Given the description of an element on the screen output the (x, y) to click on. 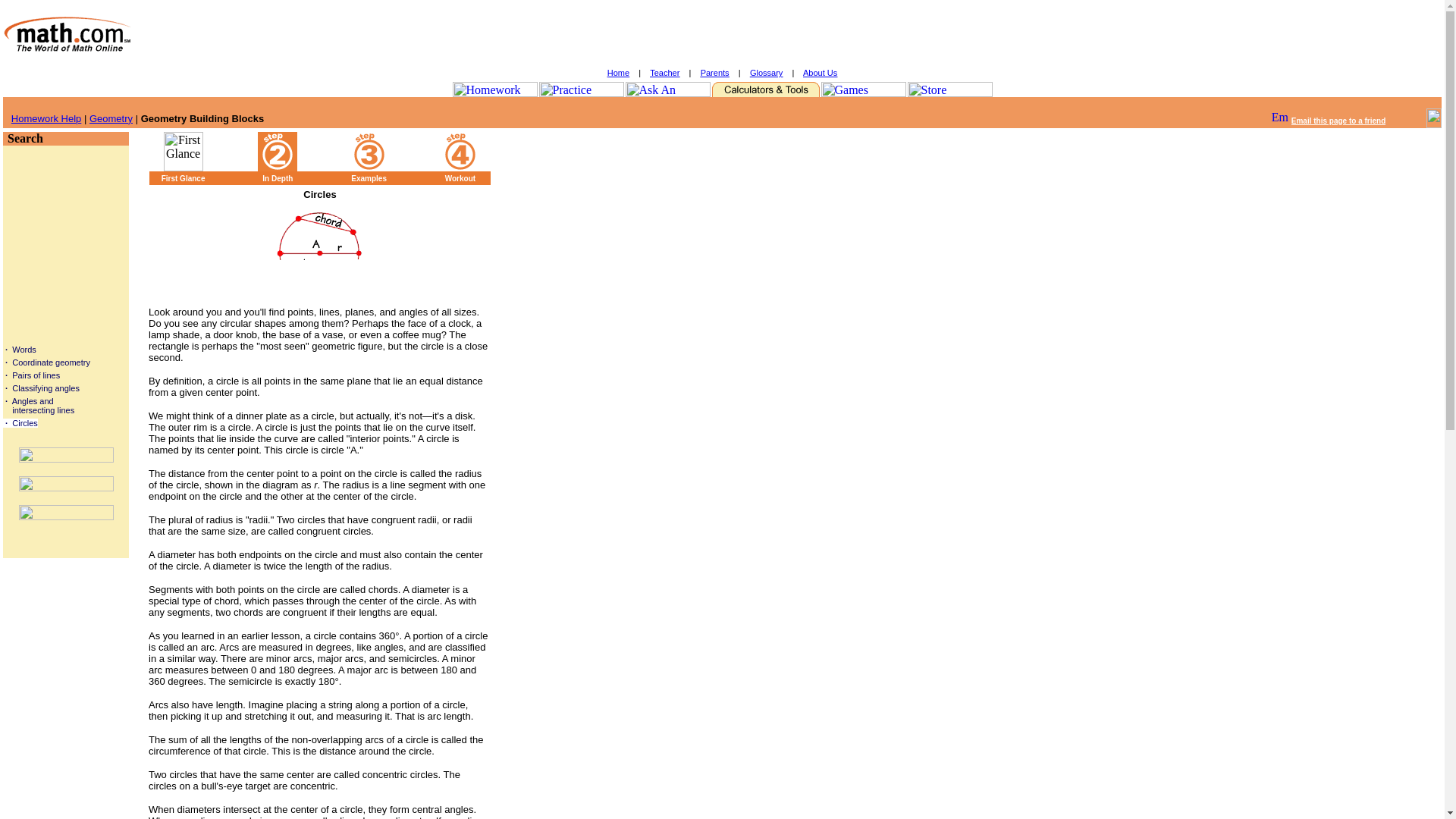
Examples (368, 175)
In Depth (277, 175)
Glossary (766, 71)
Geometry (110, 117)
Home (617, 71)
Workout (460, 175)
Parents (714, 71)
About Us (820, 71)
First Glance (183, 175)
Teacher (664, 71)
